Given the description of an element on the screen output the (x, y) to click on. 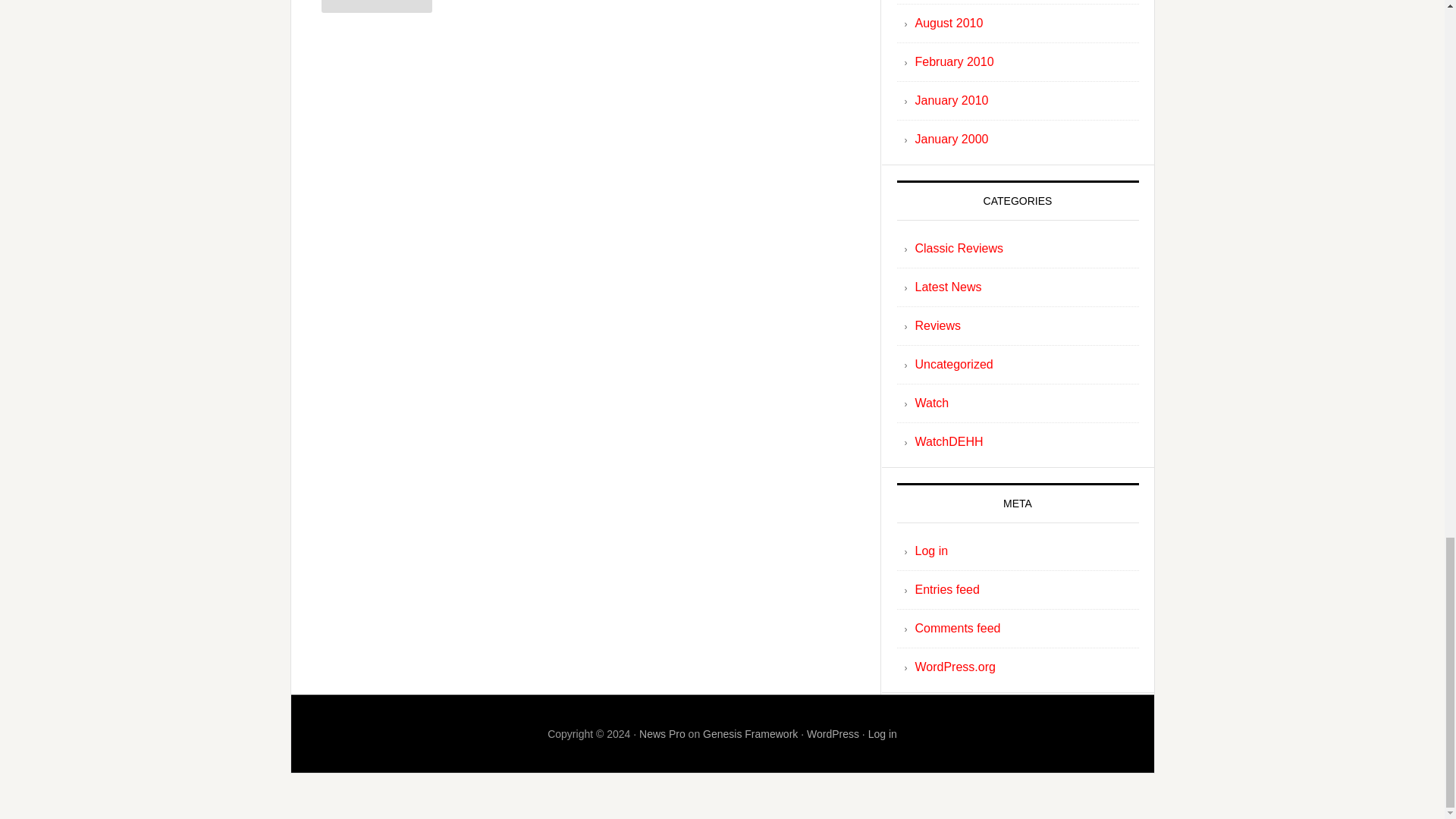
Post Comment (376, 6)
Post Comment (376, 6)
